Given the description of an element on the screen output the (x, y) to click on. 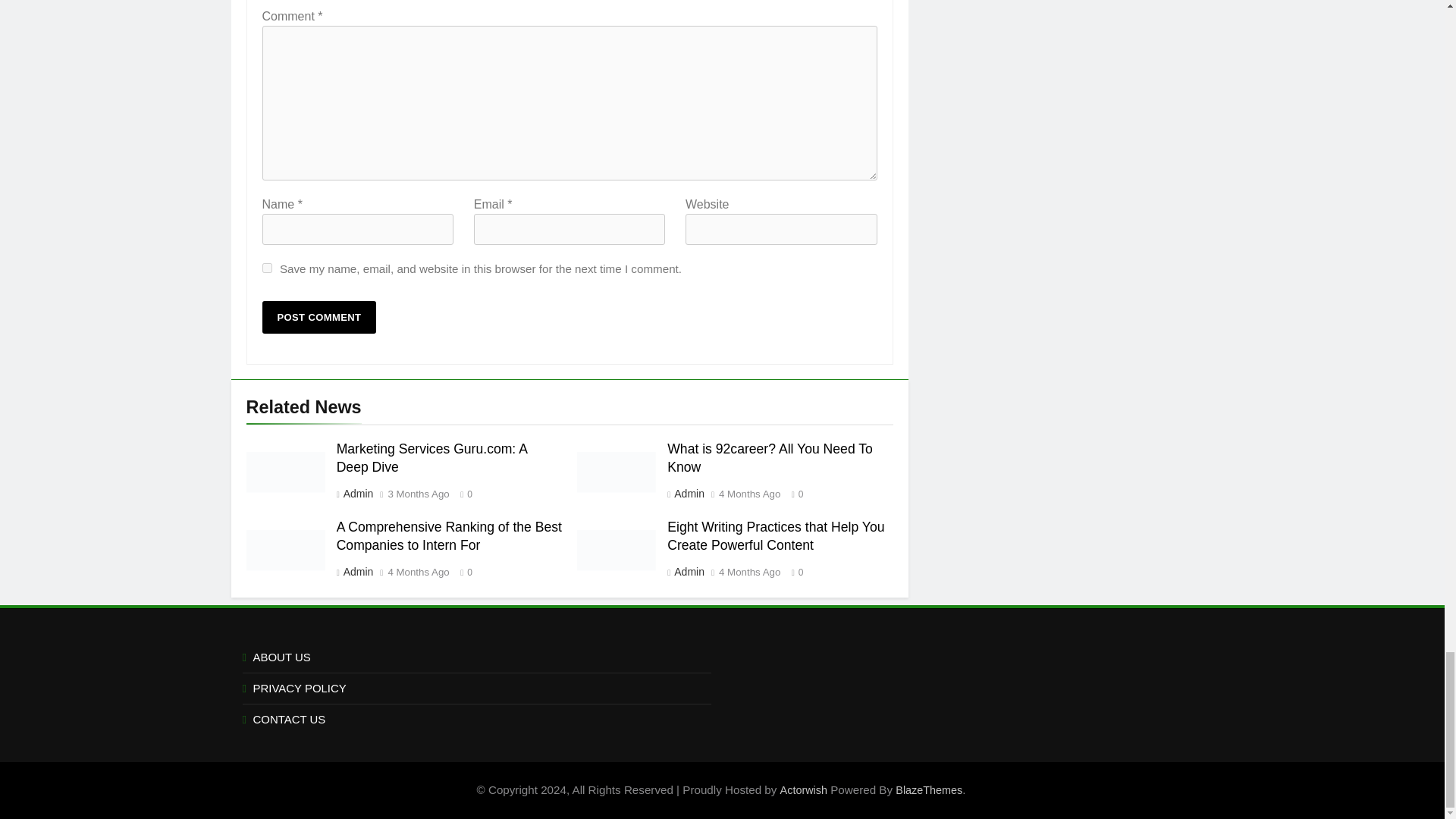
yes (267, 267)
Post Comment (319, 317)
